Given the description of an element on the screen output the (x, y) to click on. 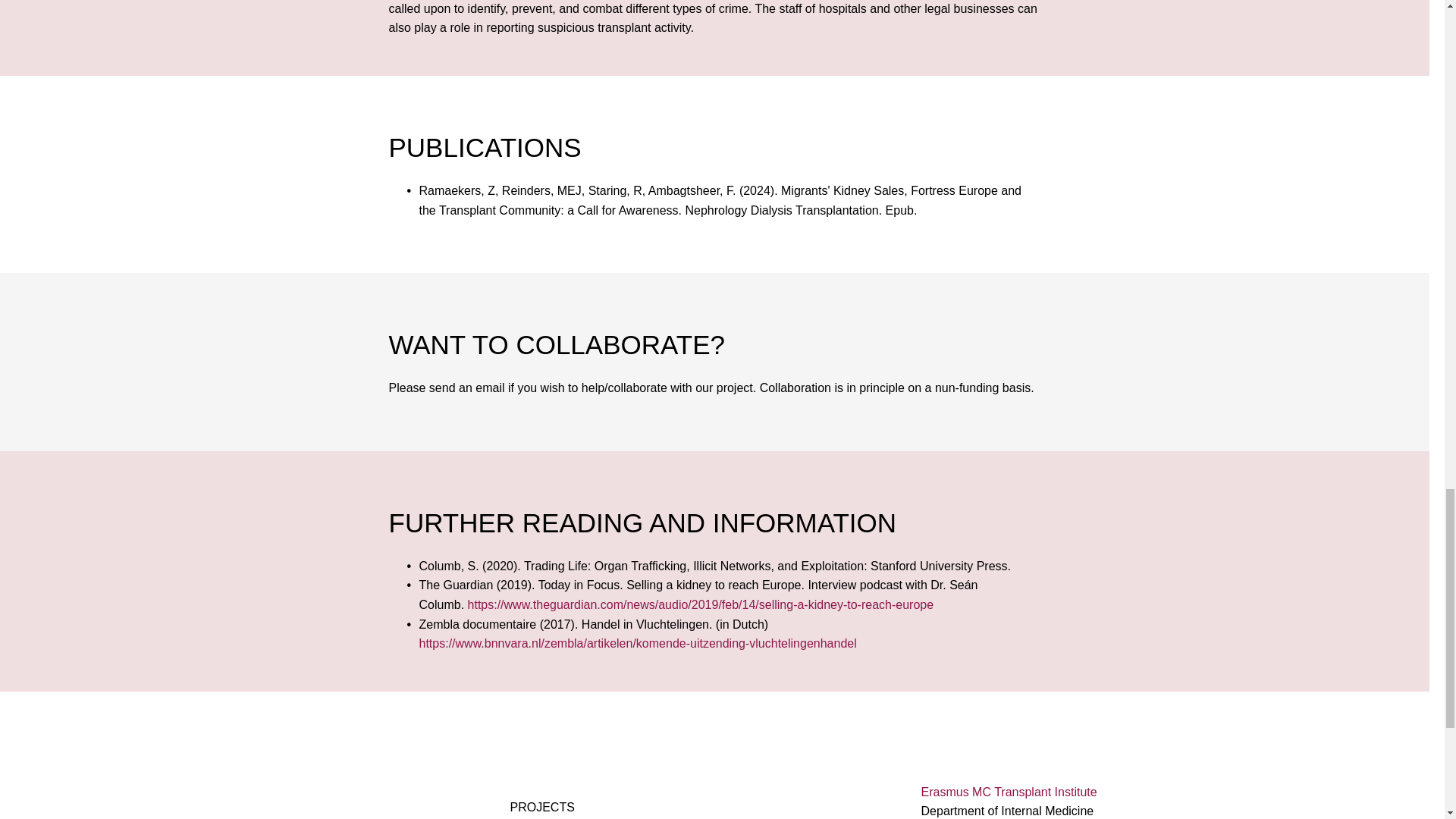
icon (327, 808)
PROJECTS (541, 807)
Erasmus MC Transplant Institute (1009, 791)
